Given the description of an element on the screen output the (x, y) to click on. 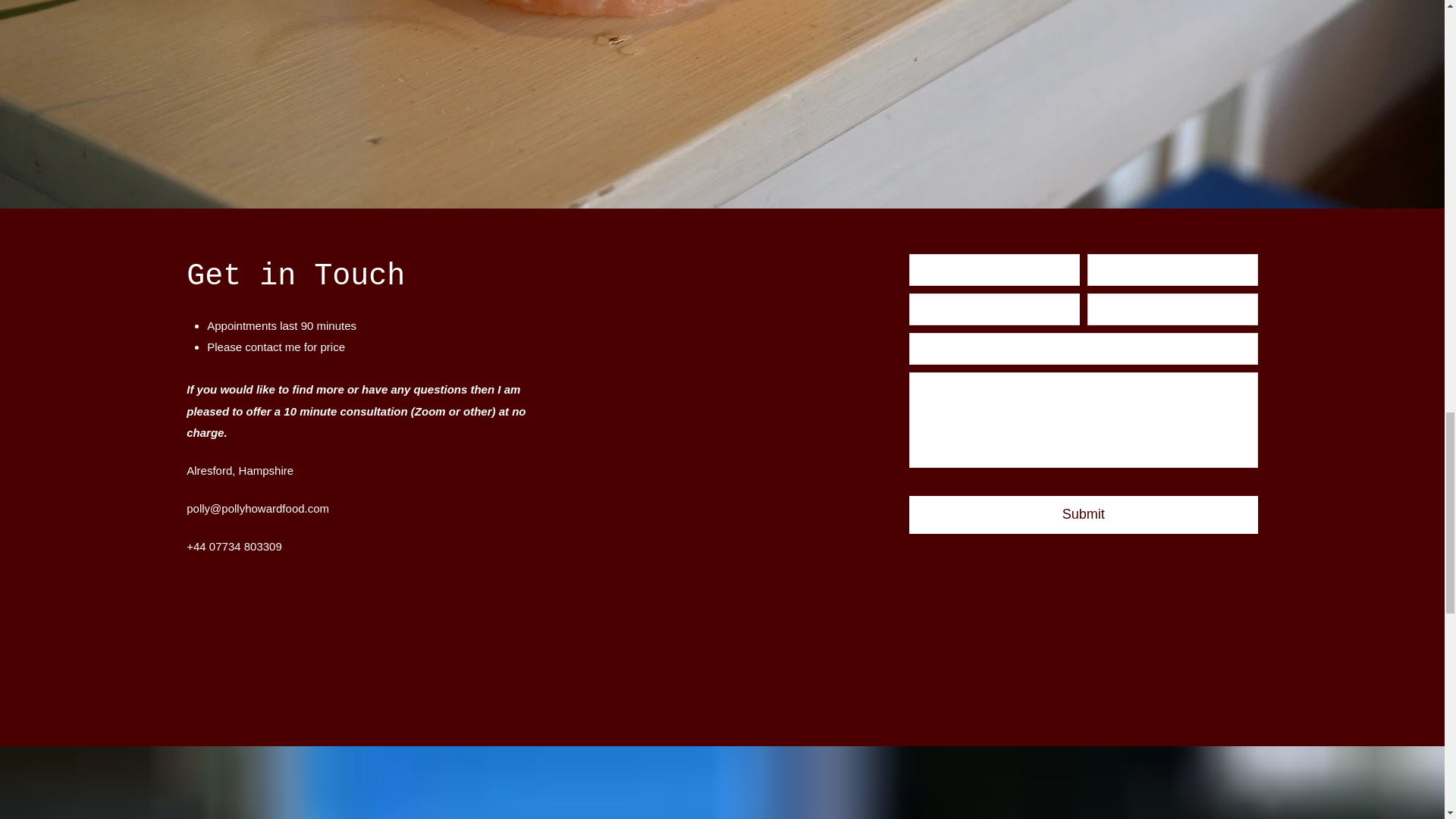
Submit (1082, 514)
